Given the description of an element on the screen output the (x, y) to click on. 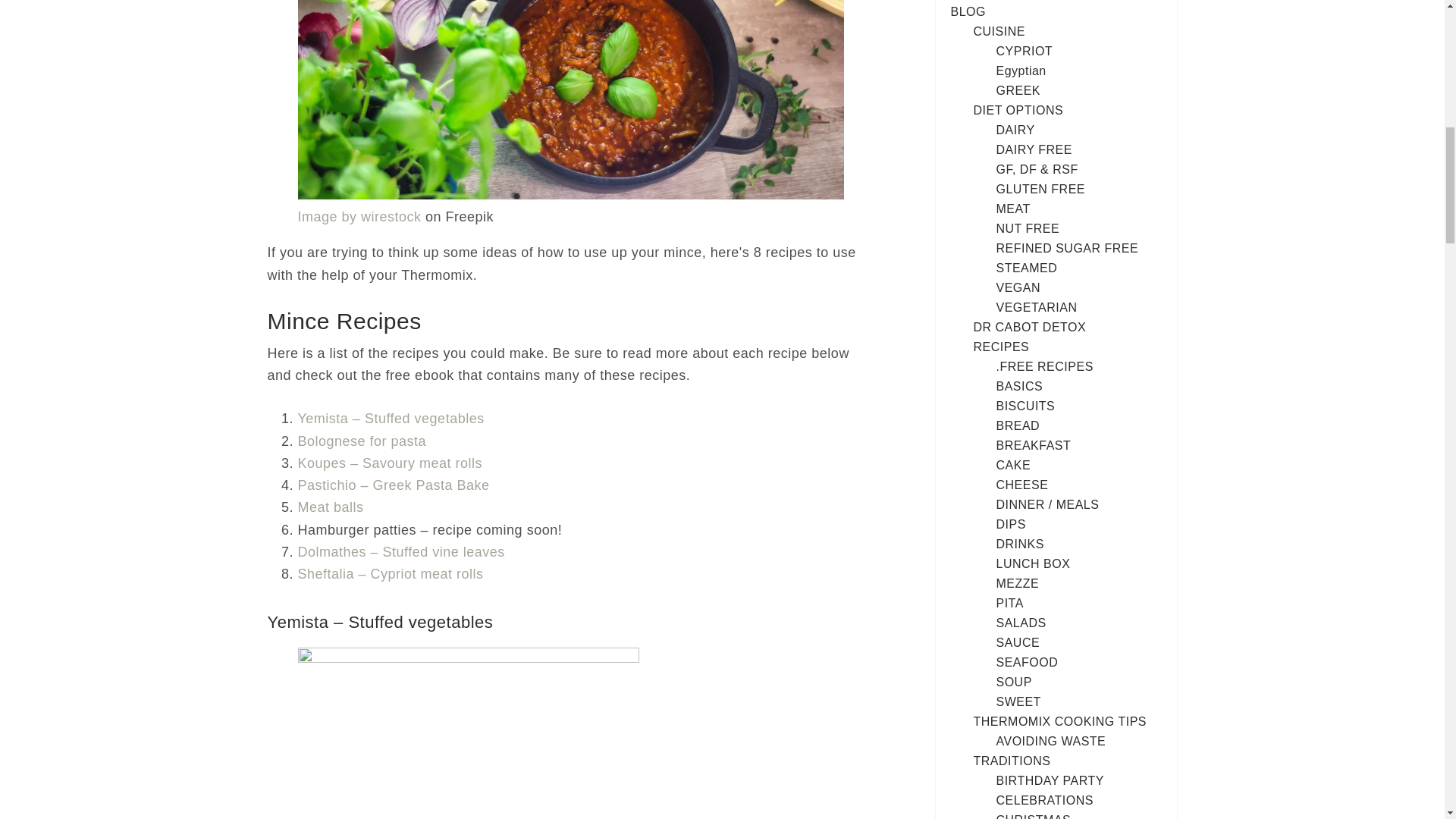
Bolognese for pasta (361, 441)
Image by wirestock (358, 216)
Meat balls (329, 507)
